Given the description of an element on the screen output the (x, y) to click on. 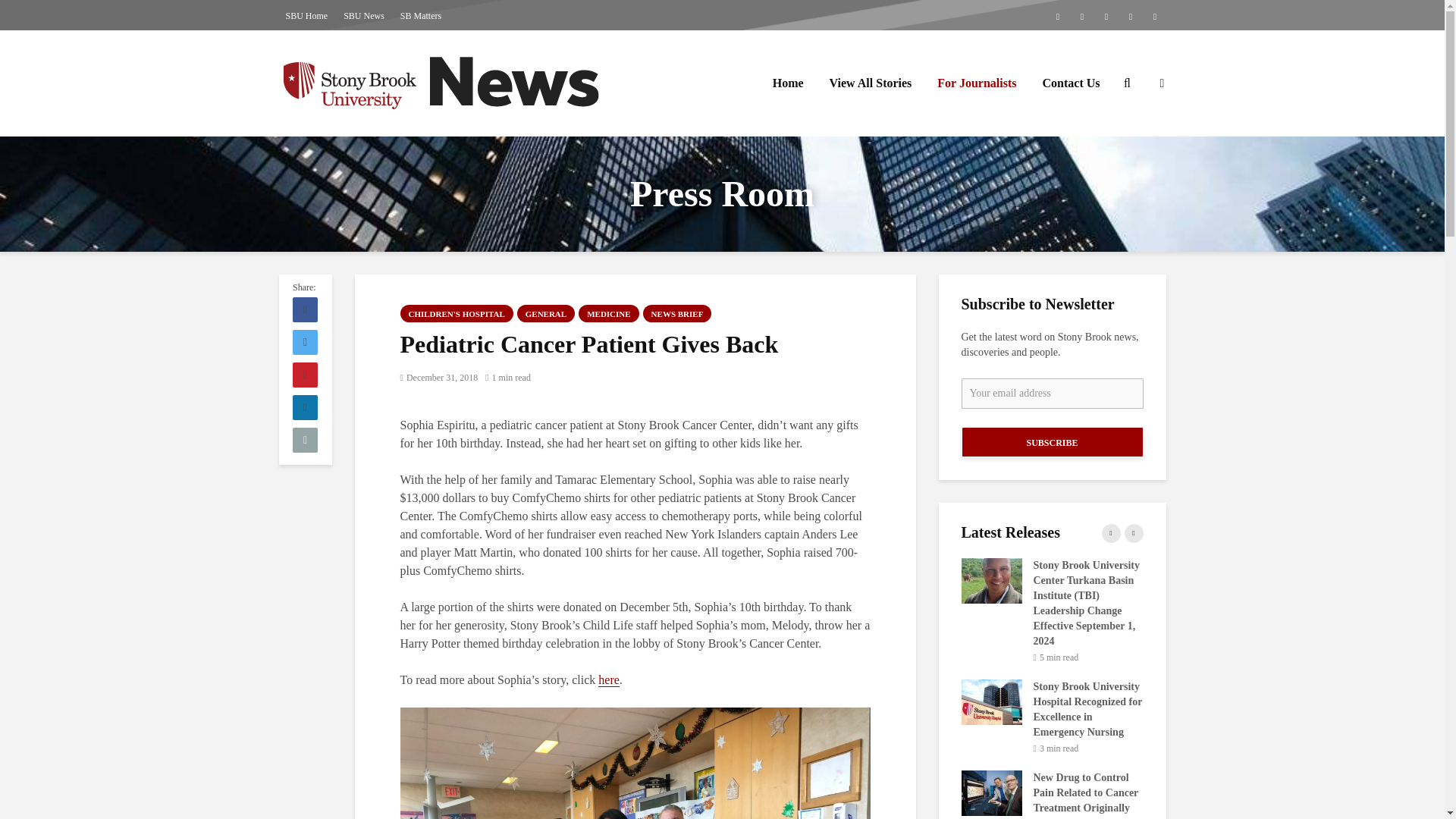
Subscribe (1051, 441)
Img 7193 (635, 763)
SBU News (363, 15)
SBU Home (306, 15)
View All Stories (870, 82)
SB Matters (420, 15)
For Journalists (976, 82)
Home (788, 82)
Contact Us (1071, 82)
